Given the description of an element on the screen output the (x, y) to click on. 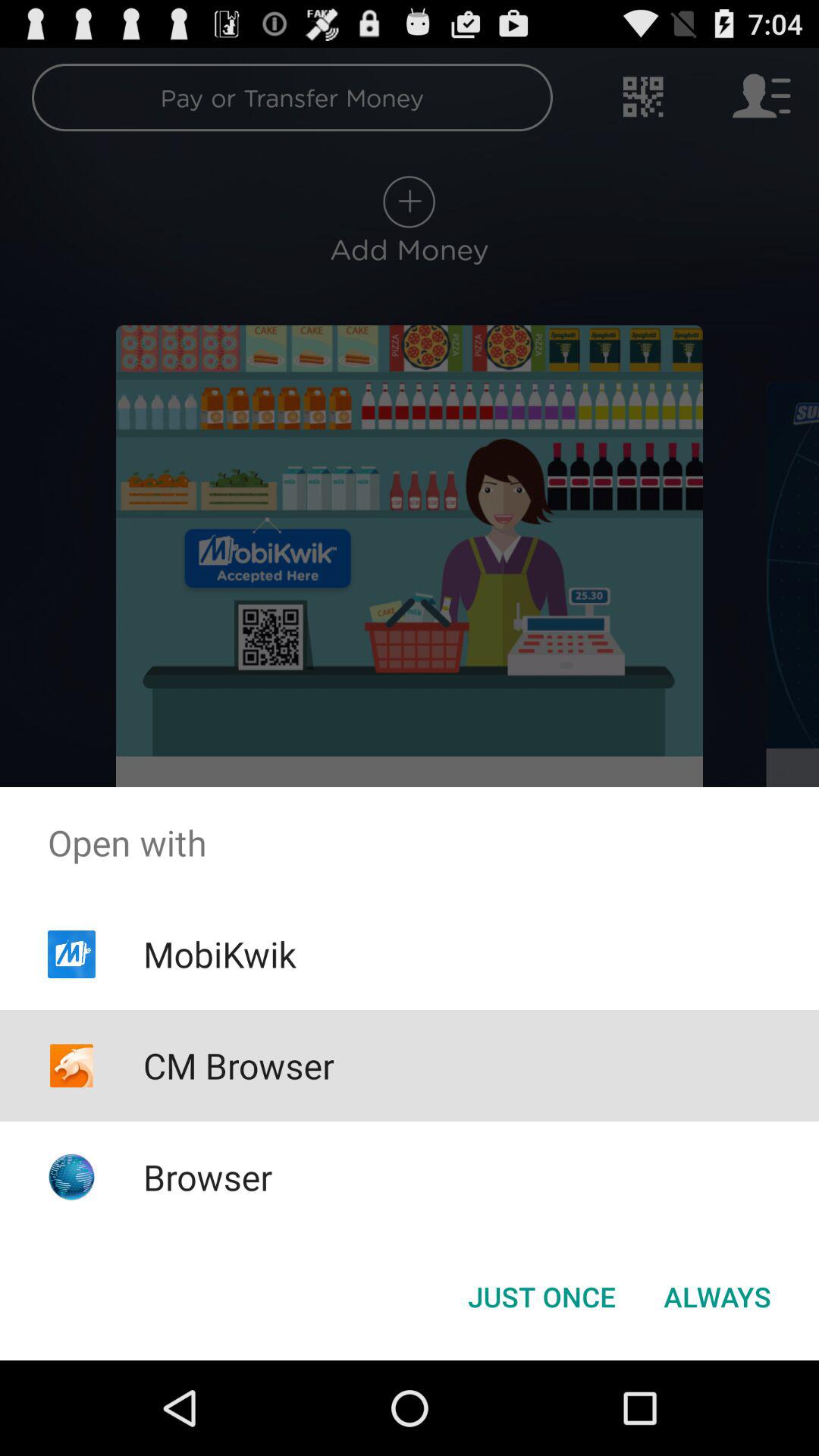
launch the item to the right of just once icon (717, 1296)
